Given the description of an element on the screen output the (x, y) to click on. 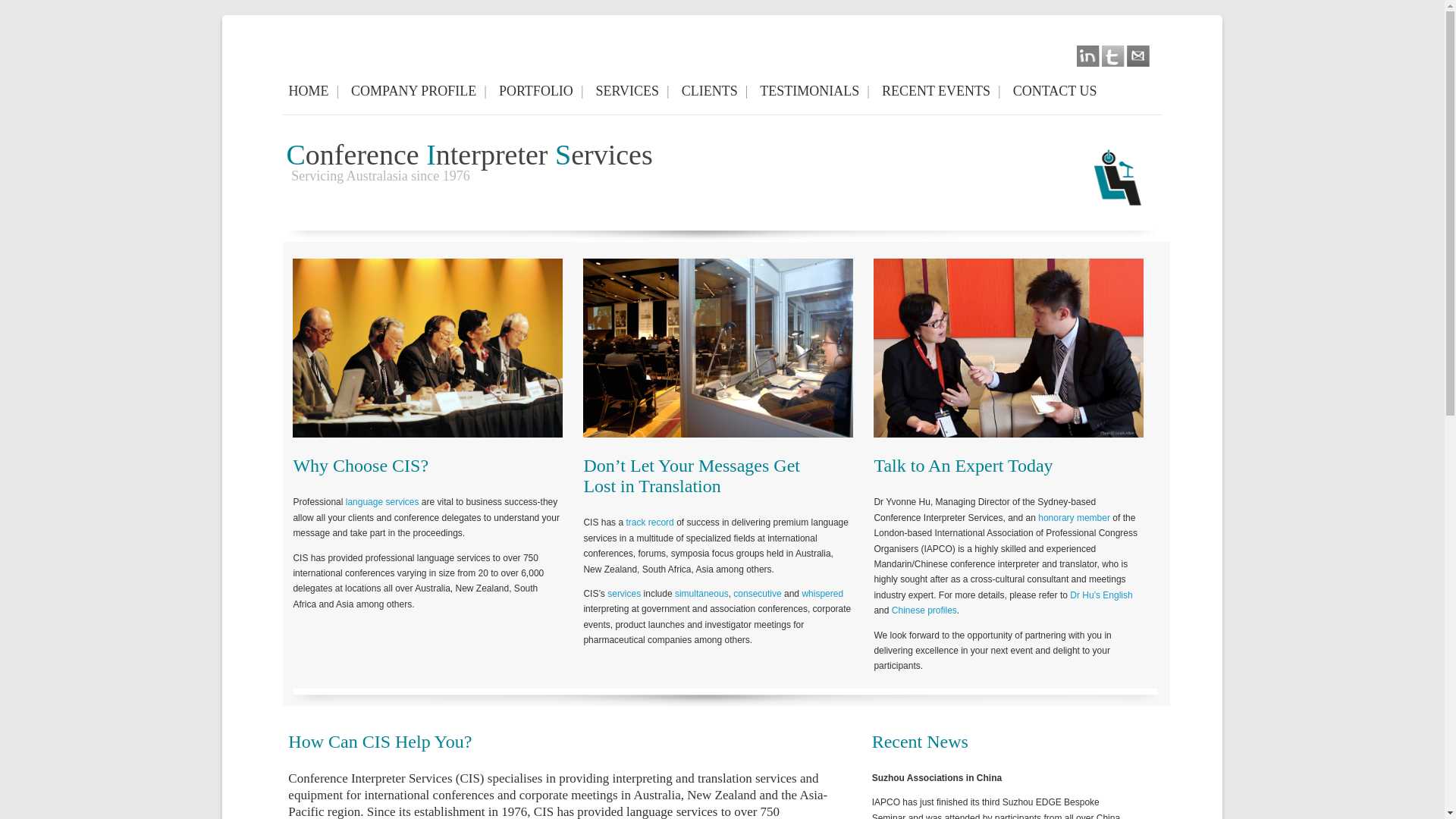
Language Services,Chinese Translation Experts Element type: hover (1007, 347)
simultaneous Element type: text (701, 593)
E-mail Element type: text (1137, 56)
CLIENTS Element type: text (714, 90)
Premium interpreter language services Element type: hover (717, 347)
Chinese profiles Element type: text (924, 610)
whispered Element type: text (822, 593)
LinkedIn Element type: text (1087, 56)
language services Element type: text (382, 501)
services Element type: text (623, 593)
track record Element type: text (649, 522)
RECENT EVENTS Element type: text (941, 90)
consecutive Element type: text (757, 593)
HOME Element type: text (313, 90)
SERVICES Element type: text (631, 90)
TESTIMONIALS Element type: text (814, 90)
CONTACT US Element type: text (1058, 90)
honorary member Element type: text (1074, 517)
PORTFOLIO Element type: text (540, 90)
COMPANY PROFILE Element type: text (418, 90)
Professional language services Element type: hover (426, 347)
Twitter Element type: text (1112, 56)
